Given the description of an element on the screen output the (x, y) to click on. 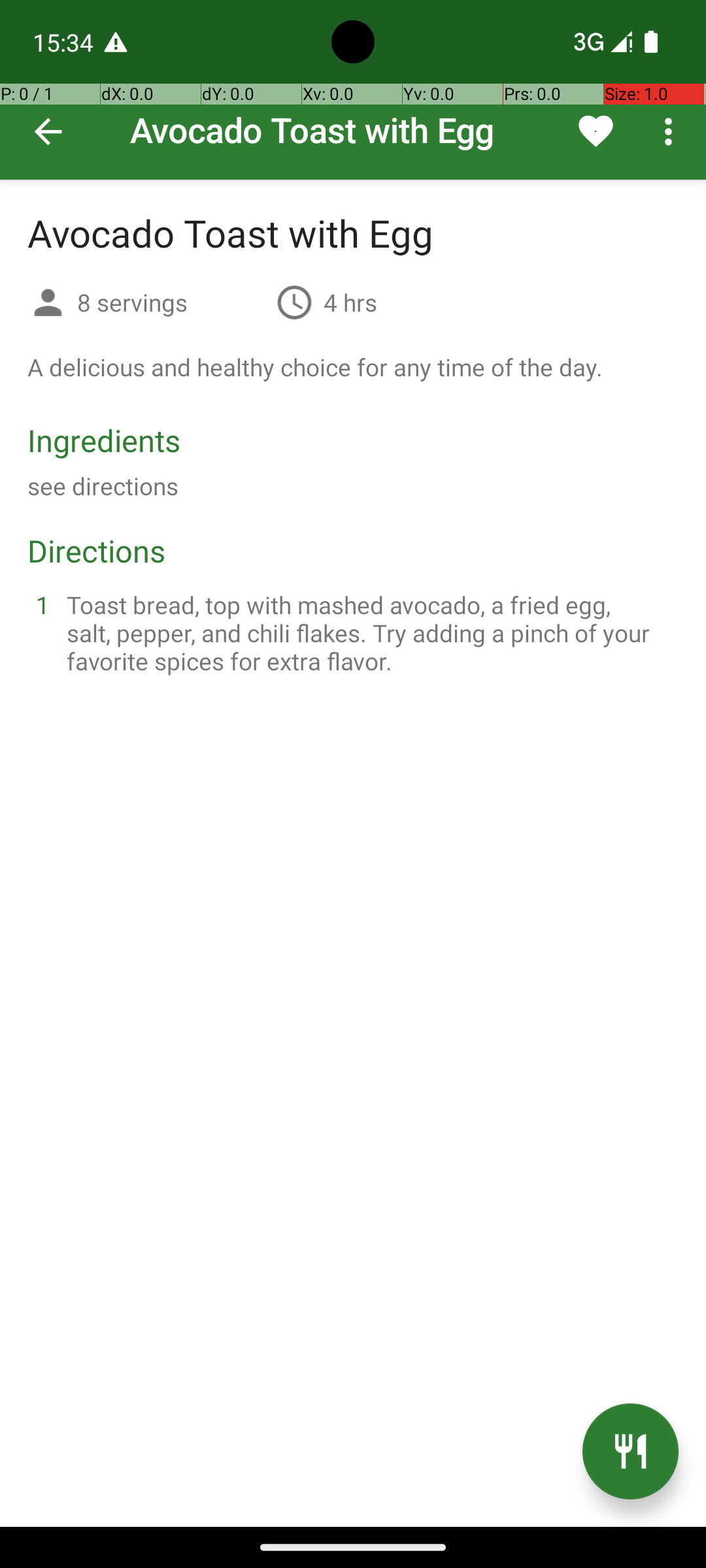
4 hrs Element type: android.widget.TextView (350, 301)
Toast bread, top with mashed avocado, a fried egg, salt, pepper, and chili flakes. Try adding a pinch of your favorite spices for extra flavor. Element type: android.widget.TextView (368, 632)
